Given the description of an element on the screen output the (x, y) to click on. 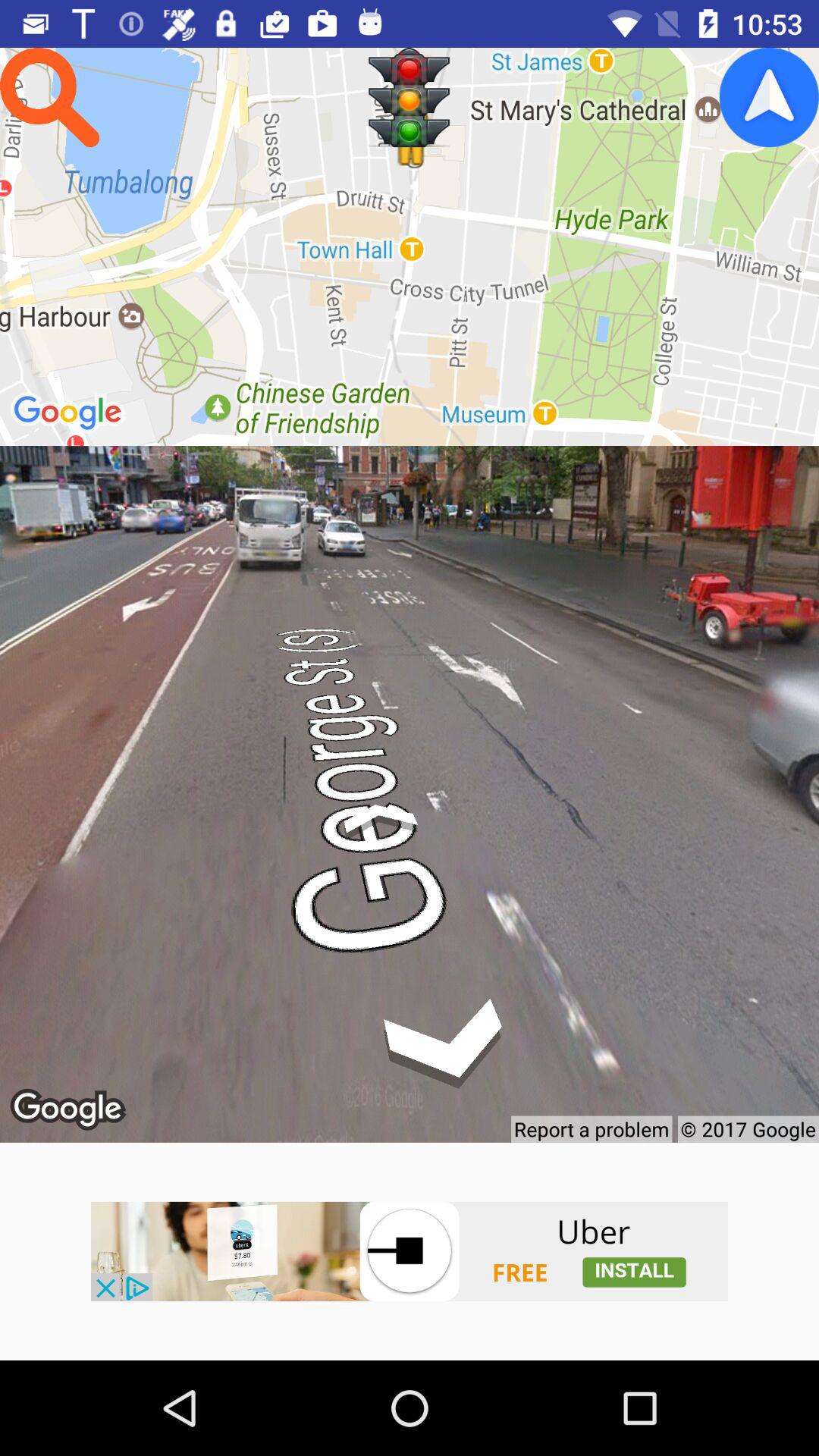
telegram web (769, 97)
